Given the description of an element on the screen output the (x, y) to click on. 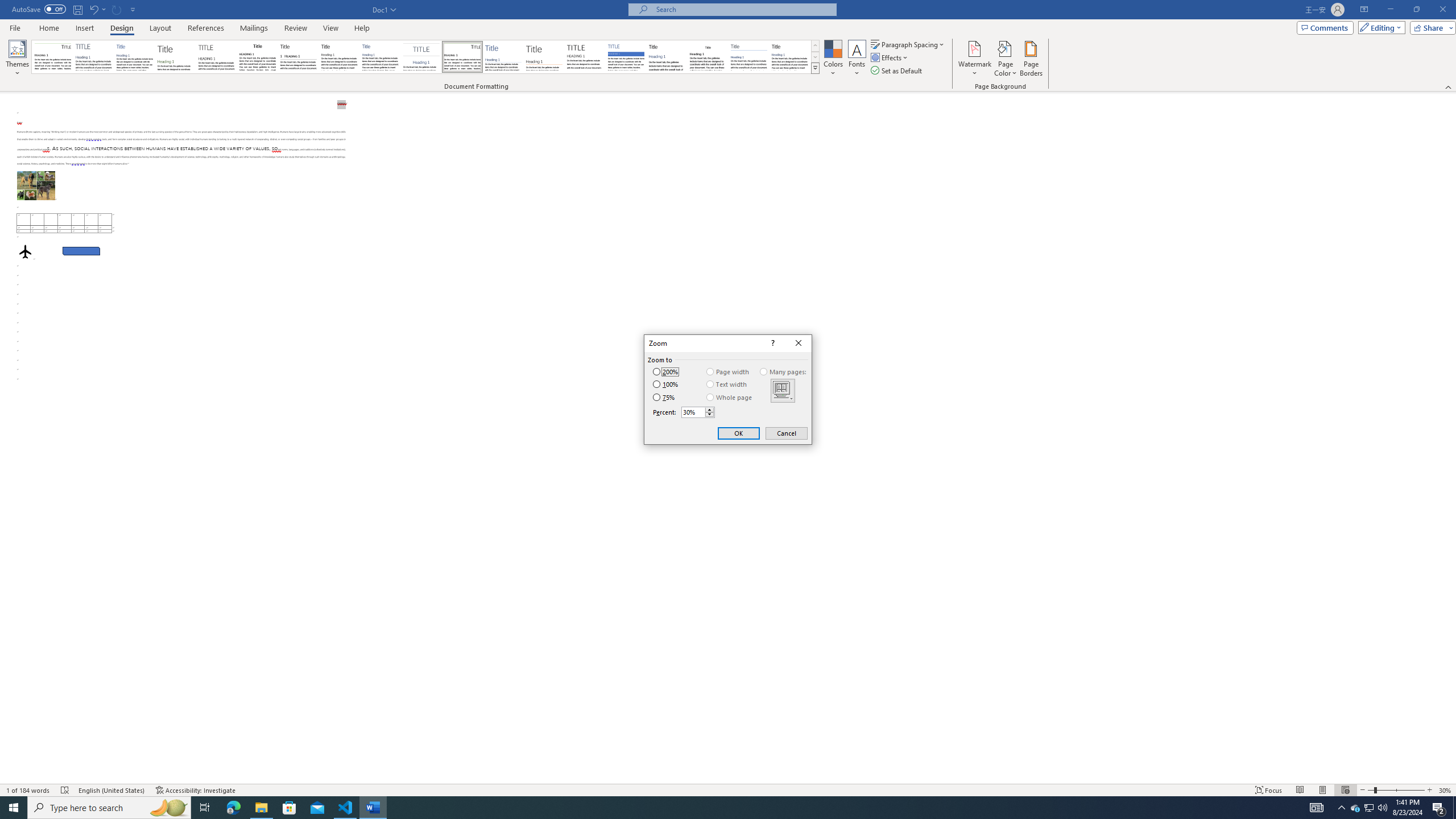
Zoom 30% (1445, 790)
Black & White (Word 2013) (338, 56)
Percent: (697, 412)
OK (738, 433)
100% (665, 383)
RichEdit Control (693, 412)
Page Color (1005, 58)
Rectangle: Diagonal Corners Snipped 2 (81, 250)
